Given the description of an element on the screen output the (x, y) to click on. 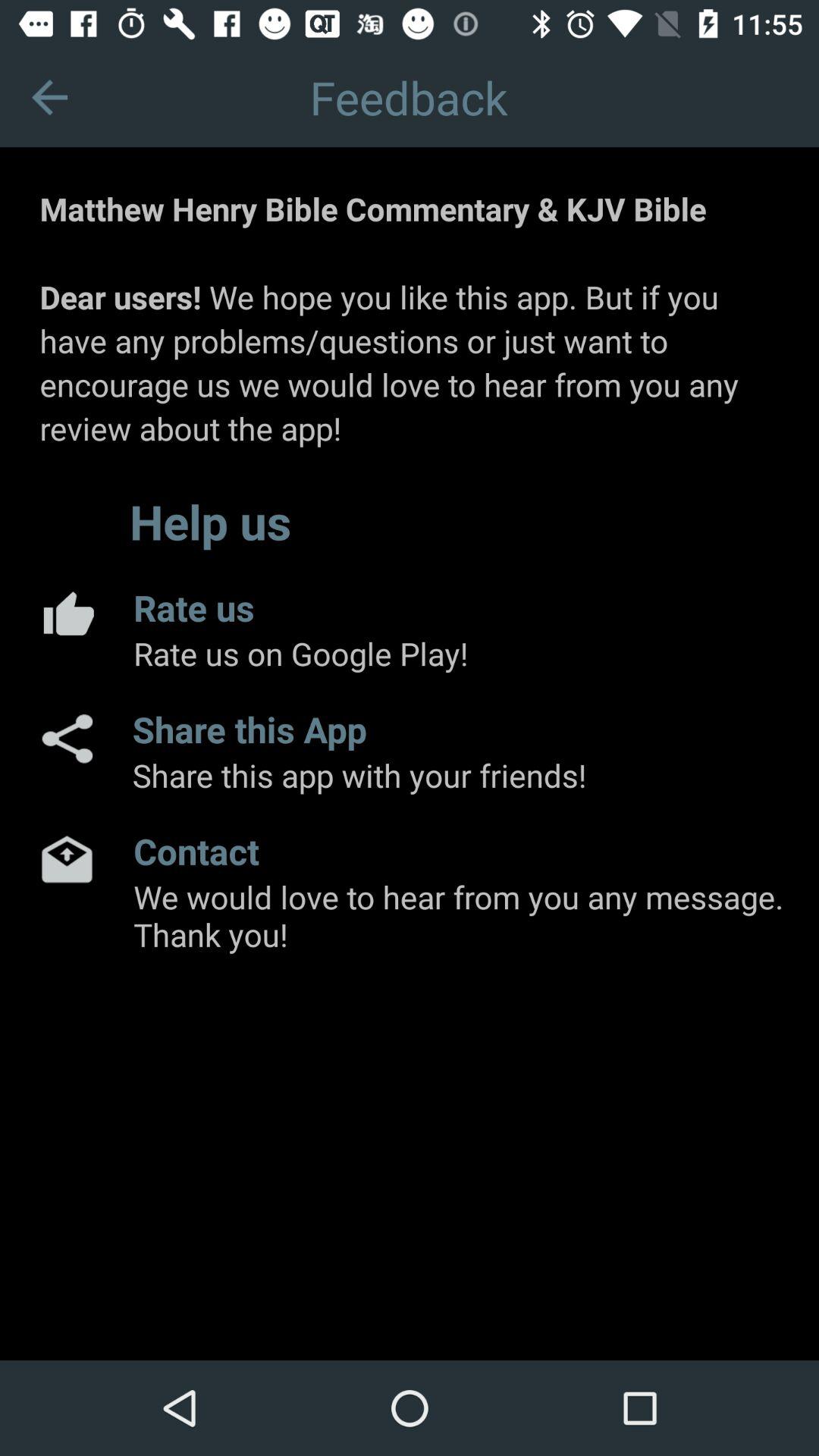
select app next to contact (66, 858)
